Given the description of an element on the screen output the (x, y) to click on. 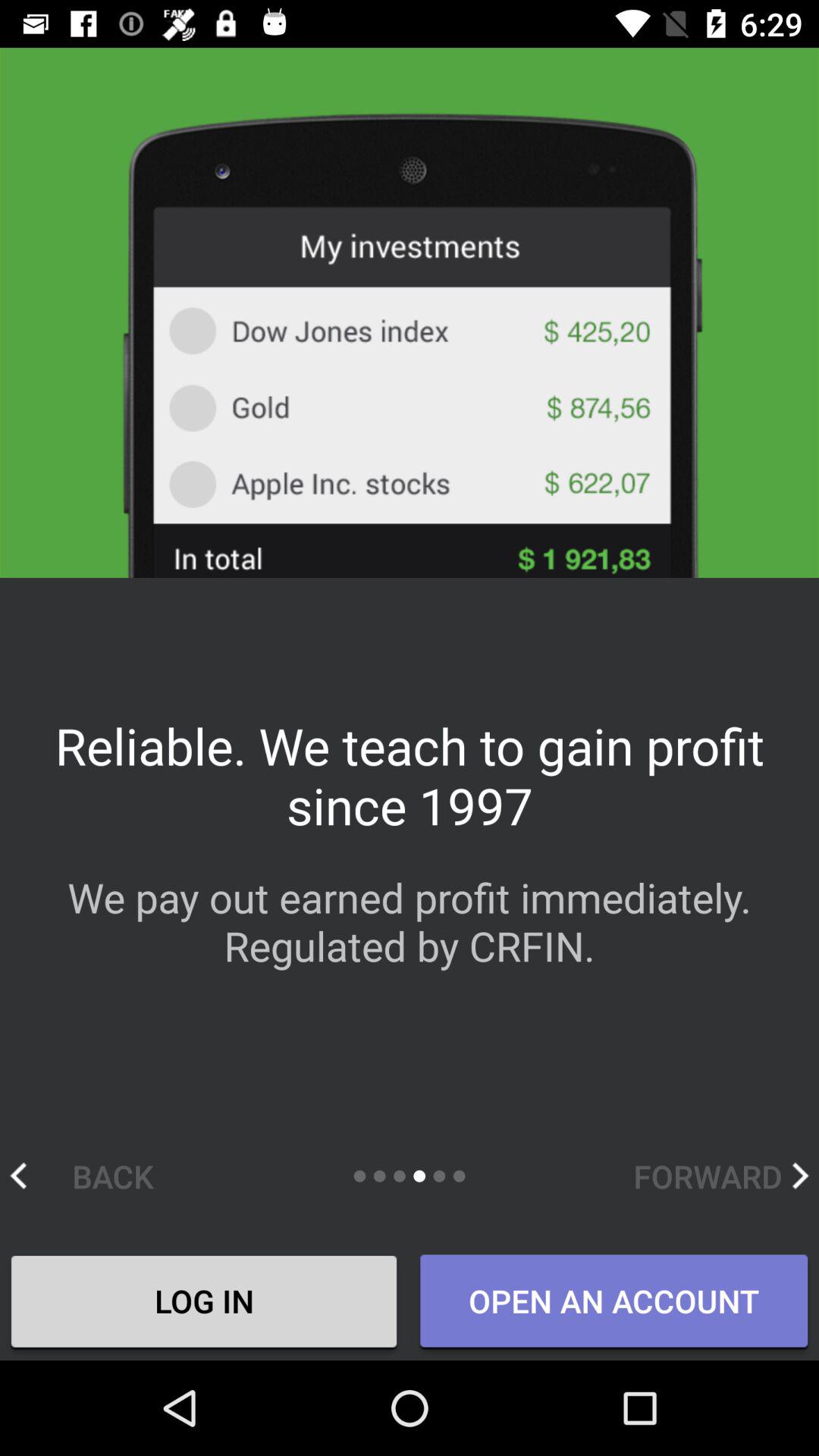
press the open an account (613, 1302)
